Given the description of an element on the screen output the (x, y) to click on. 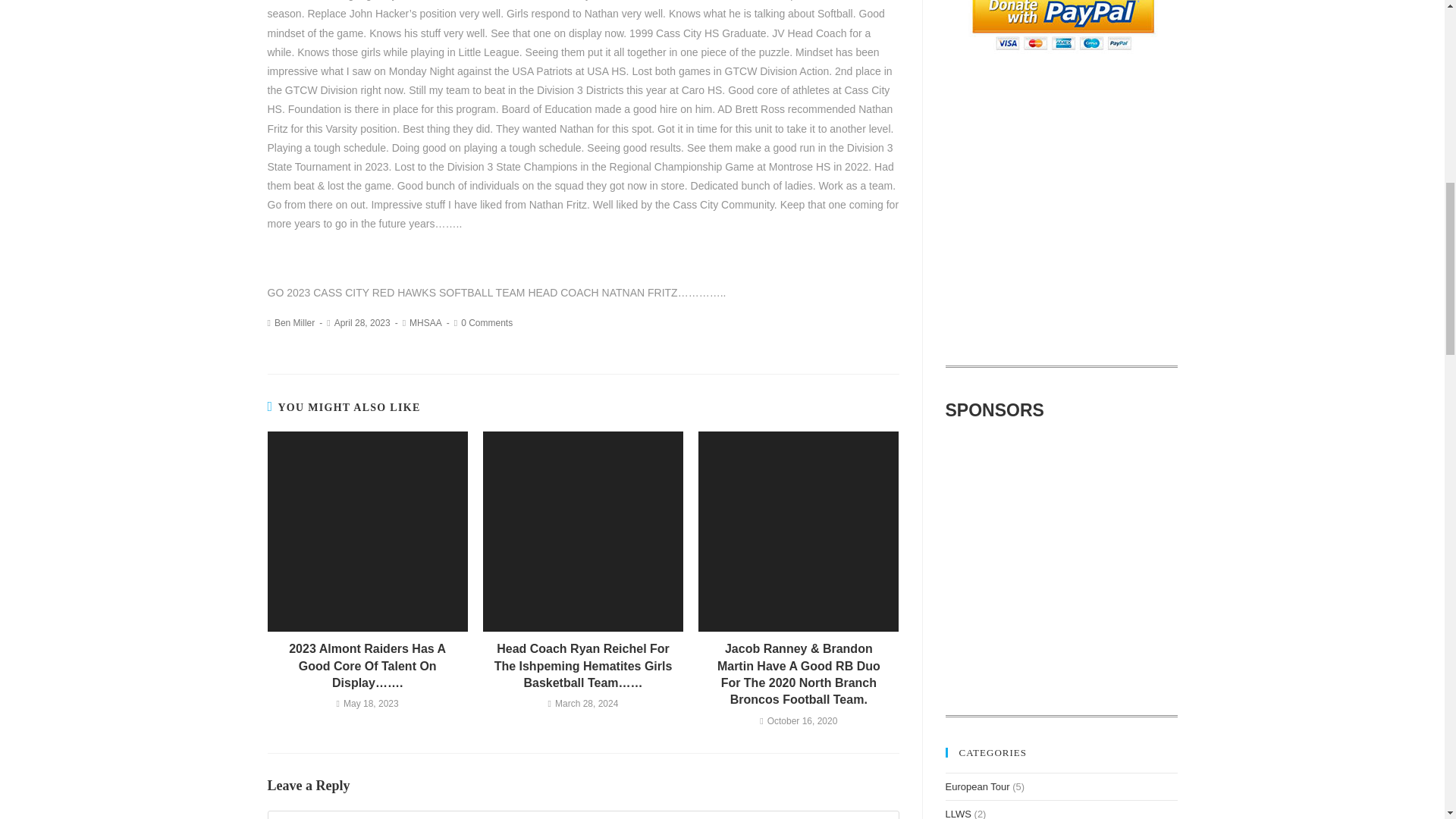
MHSAA (425, 322)
0 Comments (486, 322)
PayPal - The safer, easier way to pay online! (1061, 27)
LLWS (957, 813)
Ben Miller (294, 322)
Posts by Ben Miller (294, 322)
European Tour (976, 786)
